Given the description of an element on the screen output the (x, y) to click on. 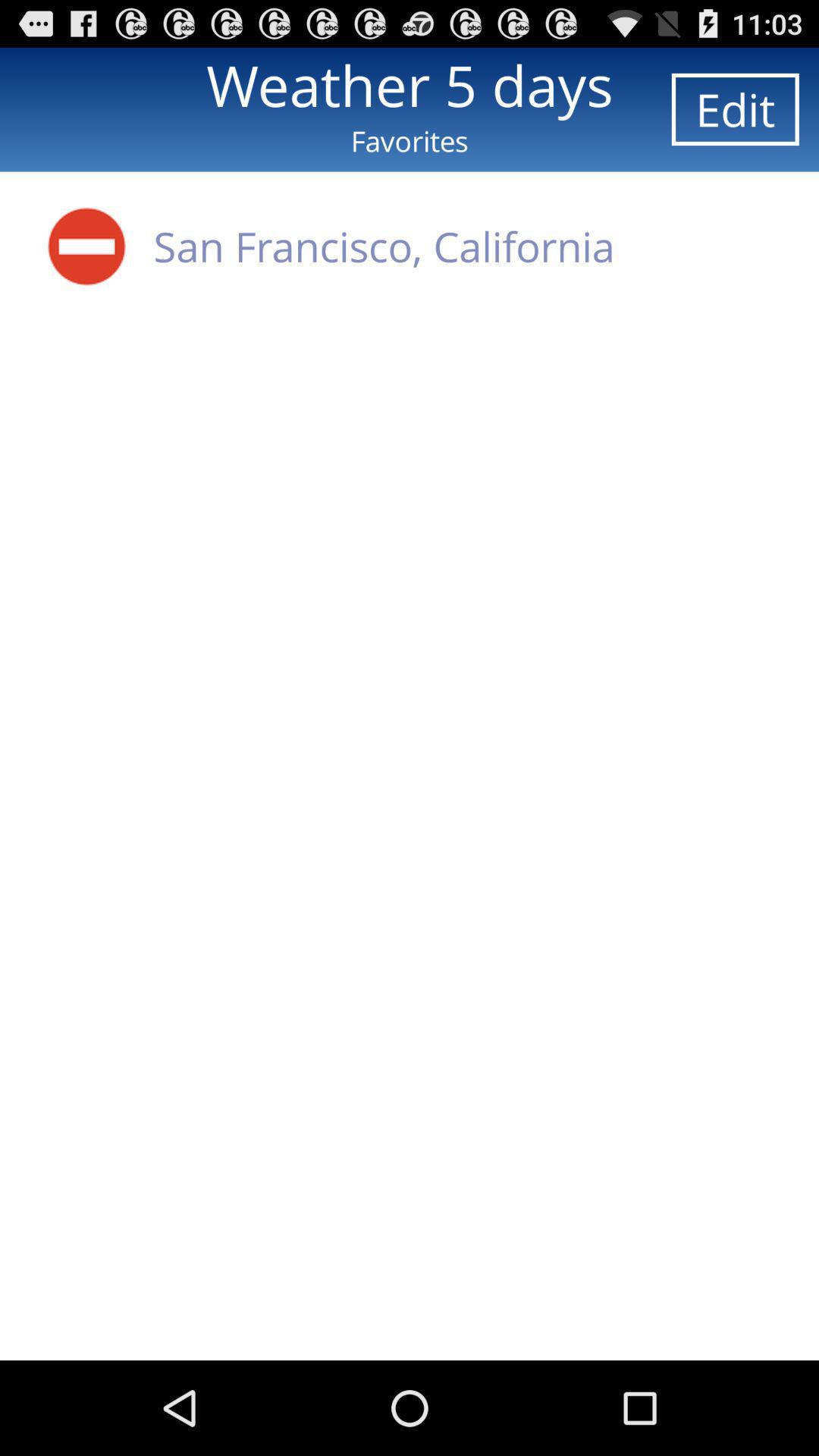
select app below favorites (86, 245)
